Given the description of an element on the screen output the (x, y) to click on. 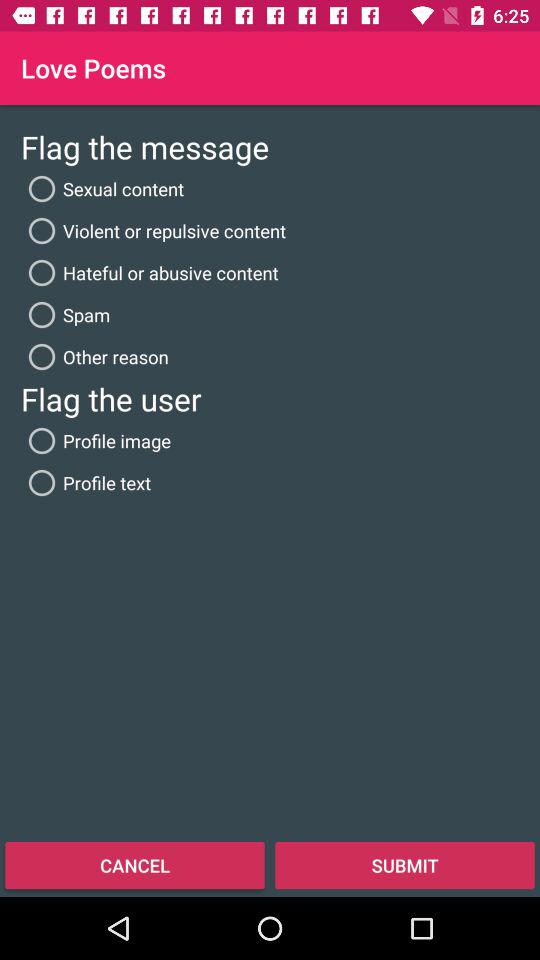
turn off the item above the profile text radio button (95, 440)
